Given the description of an element on the screen output the (x, y) to click on. 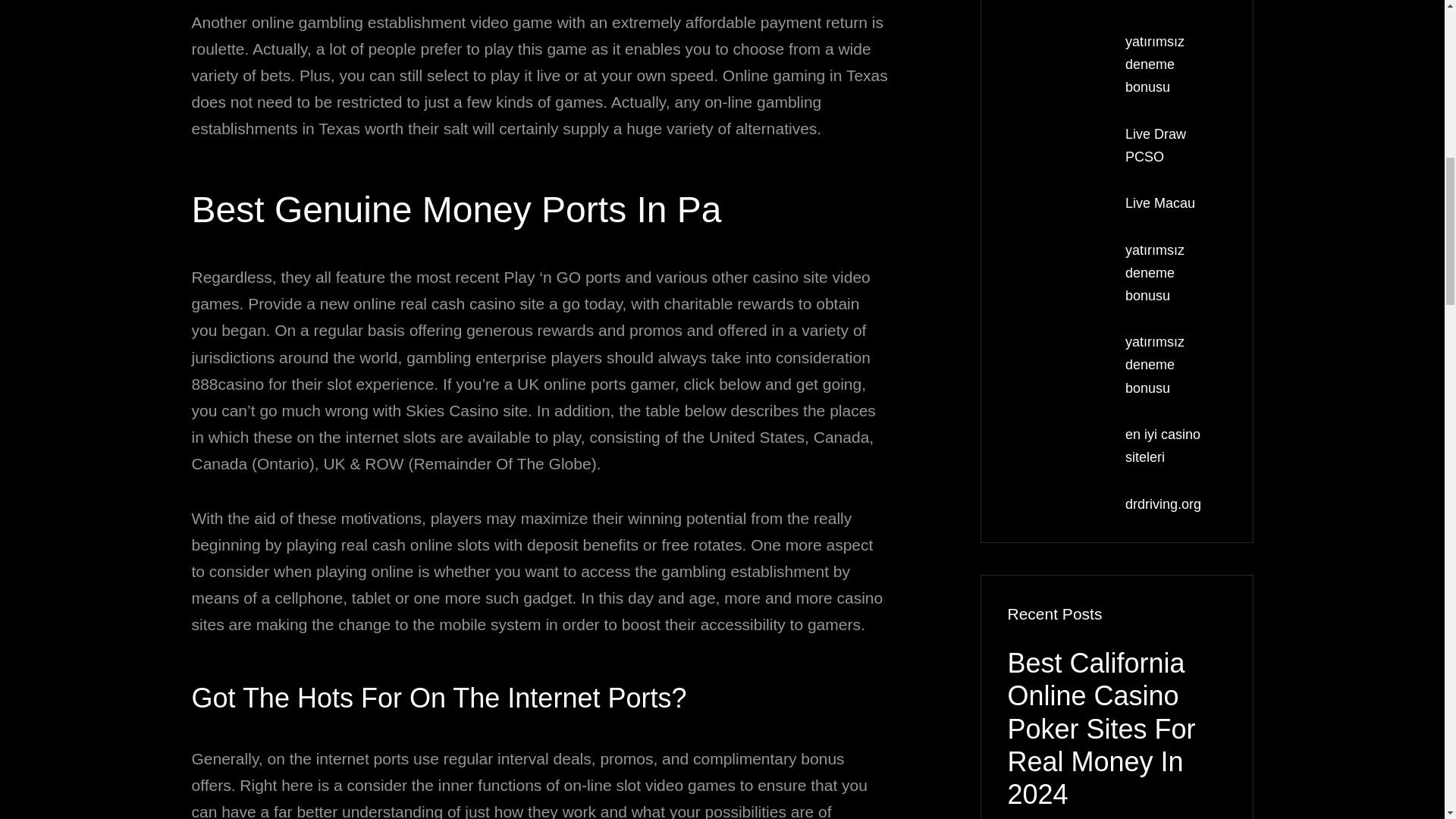
en iyi casino siteleri (1162, 445)
drdriving.org (1163, 503)
Live Macau (1160, 202)
info slot m88 (1163, 1)
Live Draw PCSO (1155, 145)
